Given the description of an element on the screen output the (x, y) to click on. 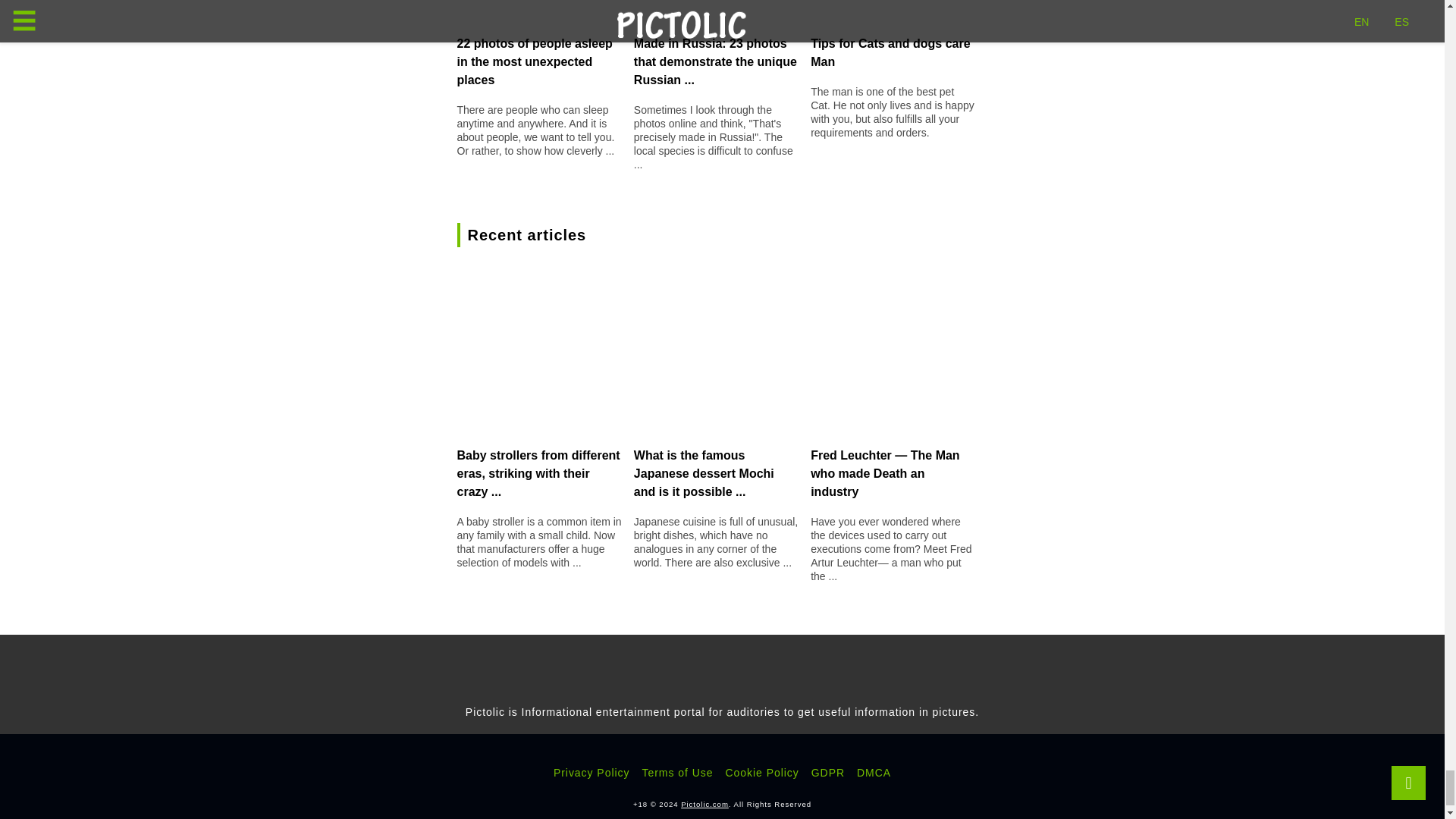
DMCA (874, 772)
Privacy Policy (591, 772)
Pictolic (705, 804)
22 photos of people asleep in the most unexpected places (534, 61)
Pictolic.com (705, 804)
GDPR (827, 772)
Terms of Use (677, 772)
Tips for Cats and dogs care Man (889, 51)
Cookie Policy (761, 772)
